Given the description of an element on the screen output the (x, y) to click on. 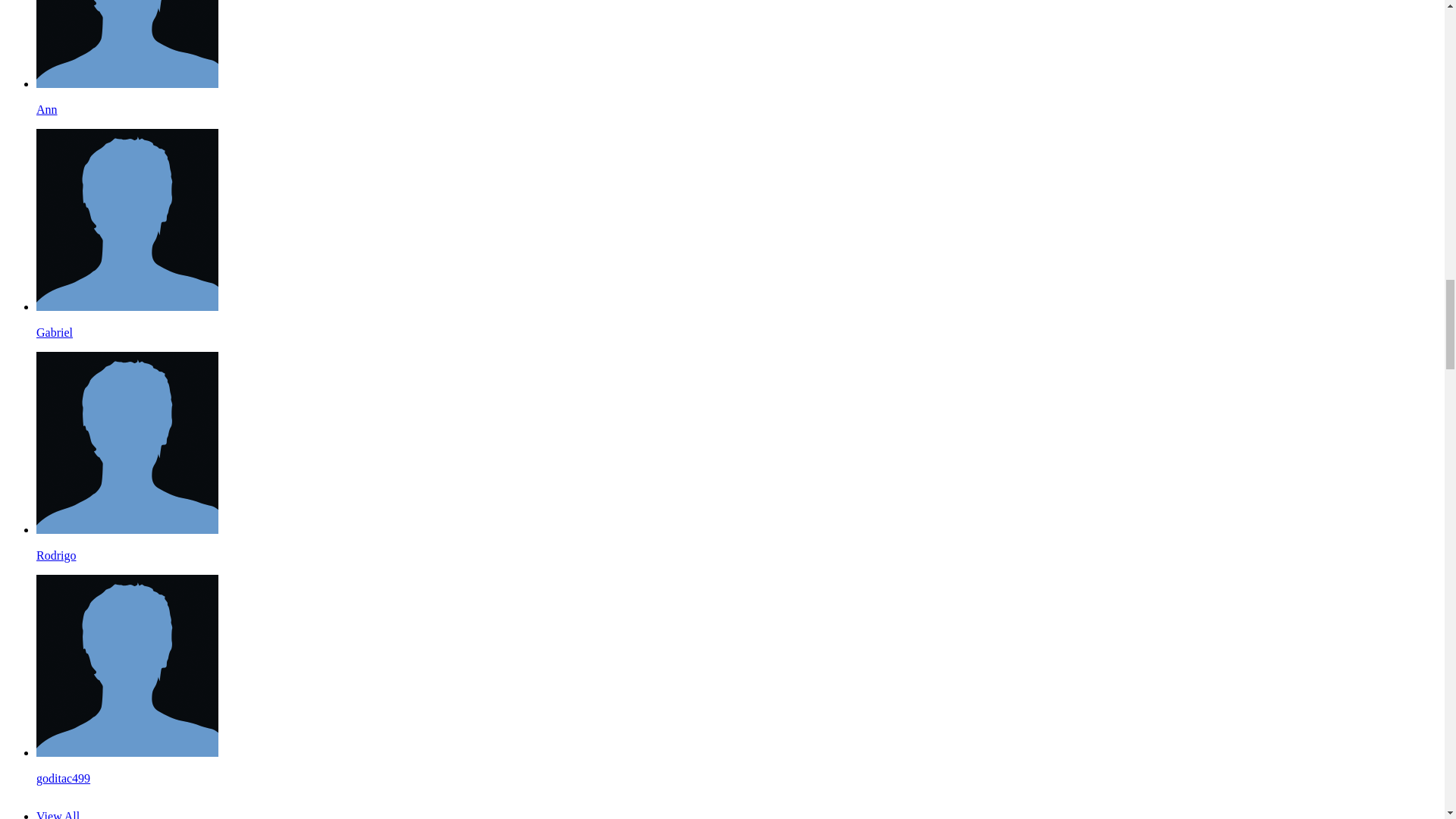
Rodrigo (127, 529)
Gabriel (54, 332)
Ann (127, 83)
View All (58, 814)
Gabriel (127, 306)
goditac499 (63, 778)
Ann (47, 109)
goditac499 (127, 752)
Rodrigo (55, 554)
